Given the description of an element on the screen output the (x, y) to click on. 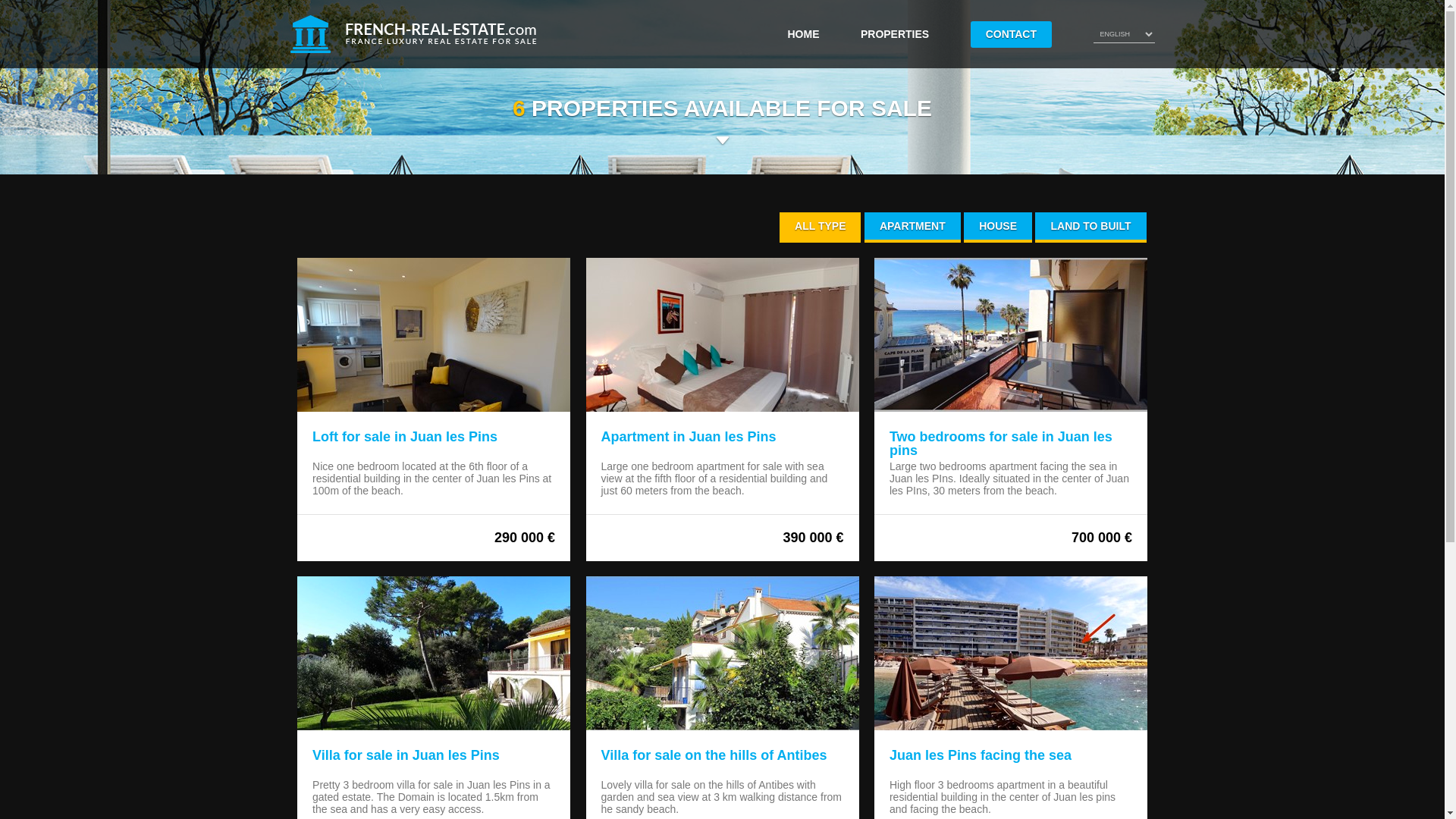
APARTMENT (912, 227)
ALL TYPE (819, 227)
LAND TO BUILT (1090, 227)
PROPERTIES (894, 33)
HOUSE (997, 227)
HOME (802, 33)
CONTACT (1011, 34)
